Given the description of an element on the screen output the (x, y) to click on. 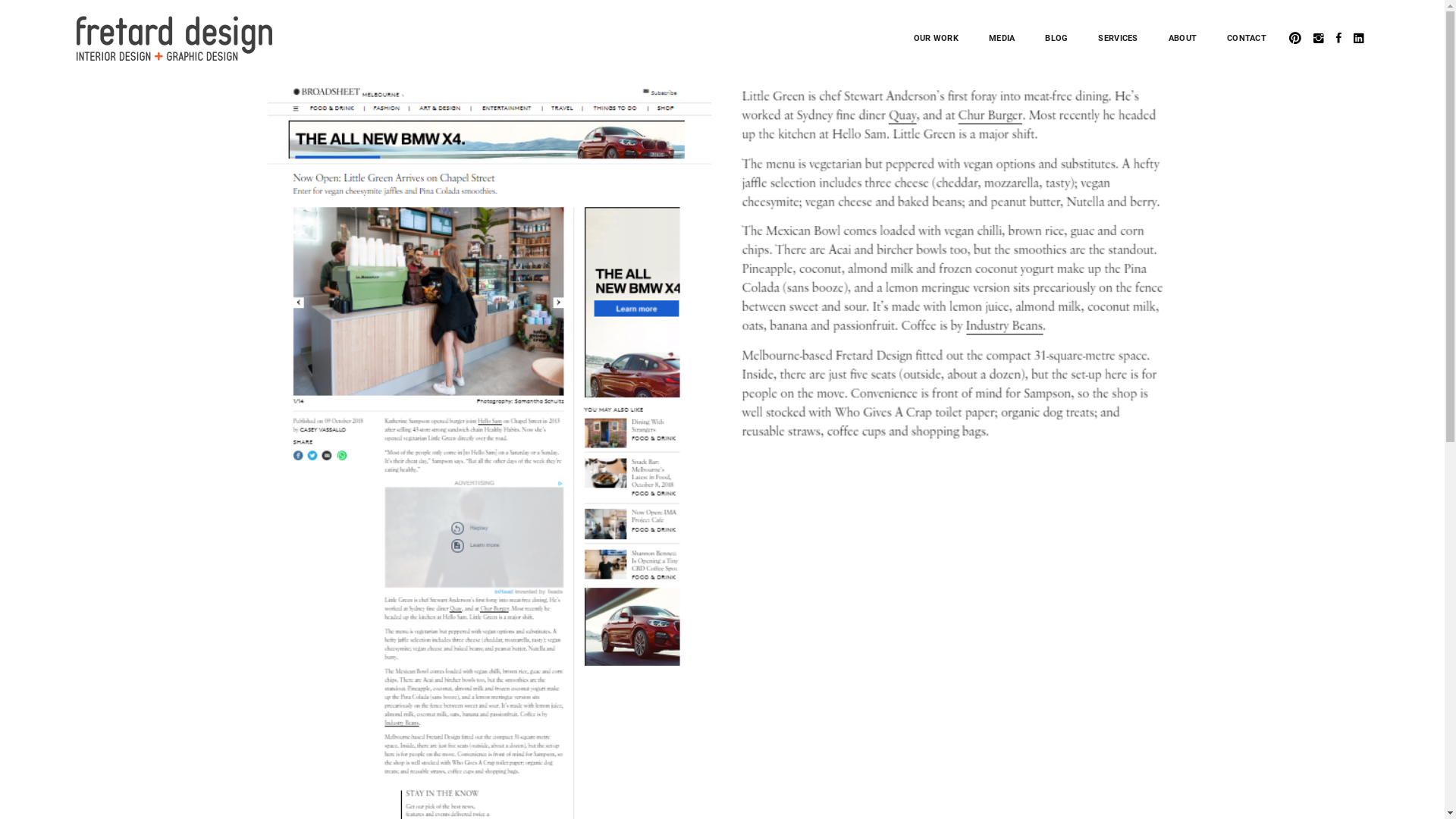
CONTACT Element type: text (1246, 37)
SERVICES Element type: text (1117, 37)
Broadsheet3 Element type: hover (955, 266)
ABOUT Element type: text (1182, 37)
OUR WORK Element type: text (935, 37)
BLOG Element type: text (1055, 37)
MEDIA Element type: text (1001, 37)
